Given the description of an element on the screen output the (x, y) to click on. 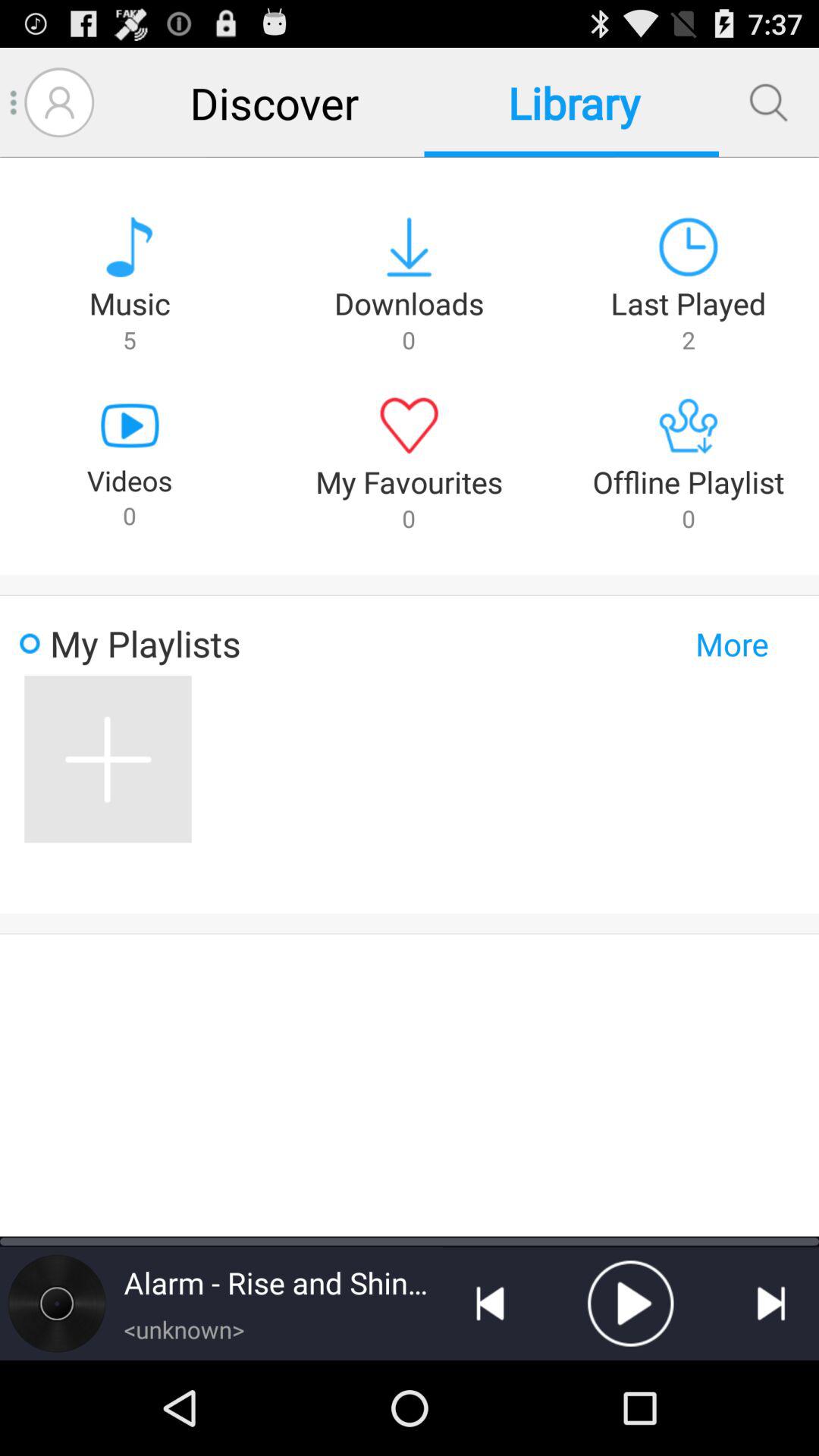
play (630, 1303)
